Given the description of an element on the screen output the (x, y) to click on. 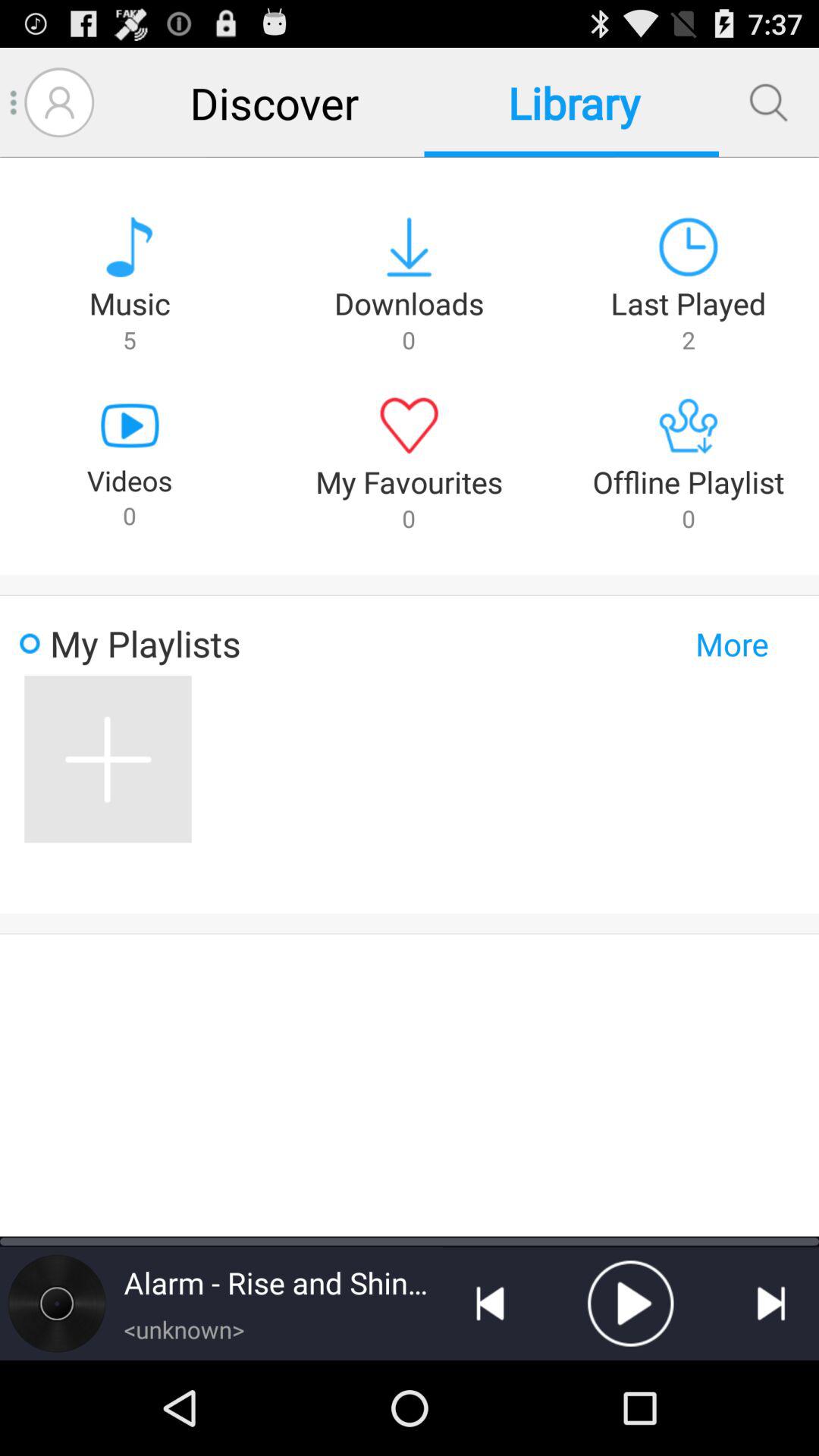
play (630, 1303)
